Given the description of an element on the screen output the (x, y) to click on. 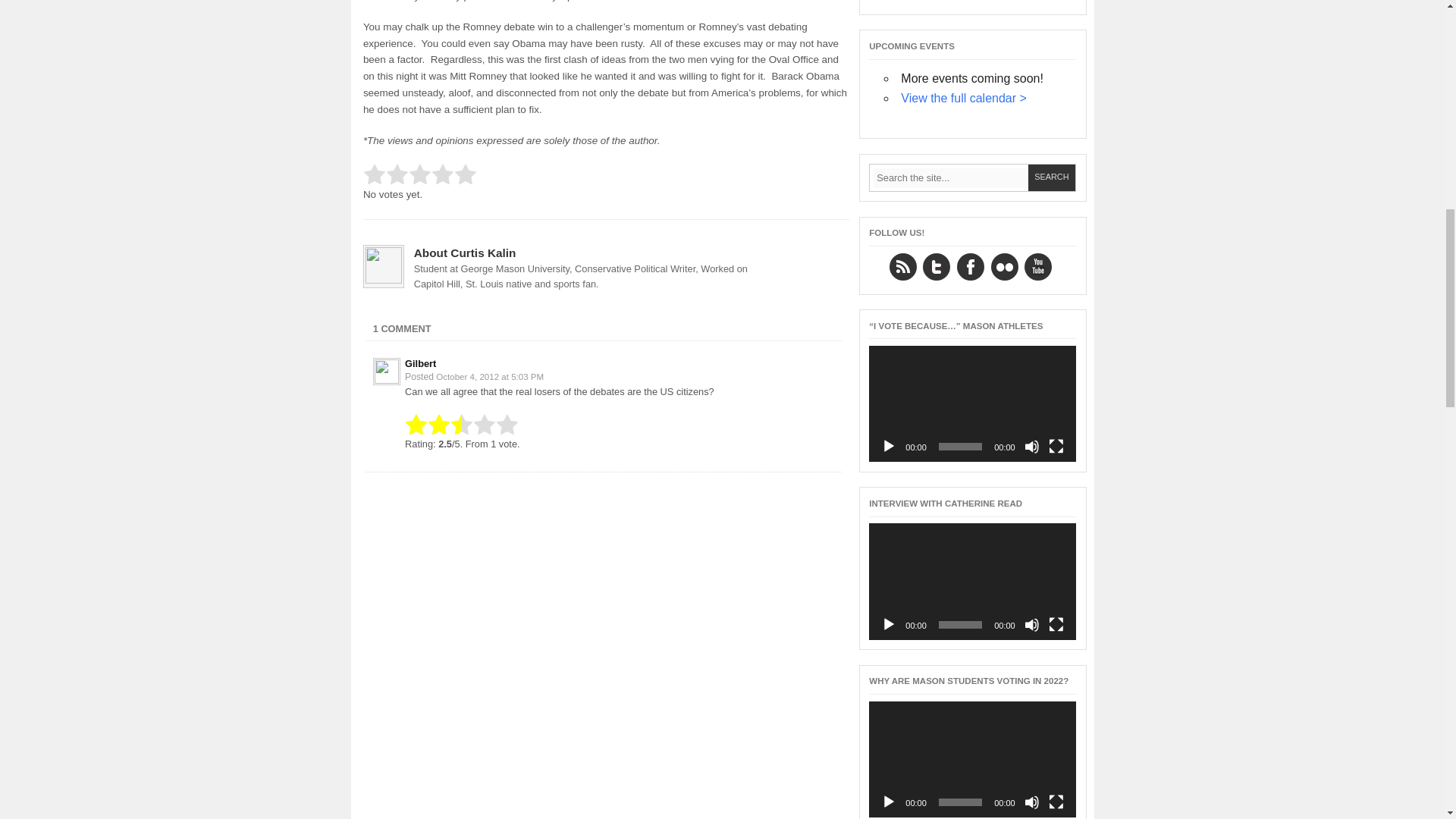
Play (888, 624)
YouTube (1038, 266)
Flickr (1004, 266)
Fullscreen (1056, 446)
Mute (1032, 446)
Twitter (936, 266)
Gilbert (419, 363)
2012-10-04T17:03:02-04:00 (489, 376)
Search (1051, 177)
Fullscreen (1056, 624)
Mute (1032, 801)
Search (1051, 177)
Fullscreen (1056, 801)
Play (888, 801)
Mute (1032, 624)
